Given the description of an element on the screen output the (x, y) to click on. 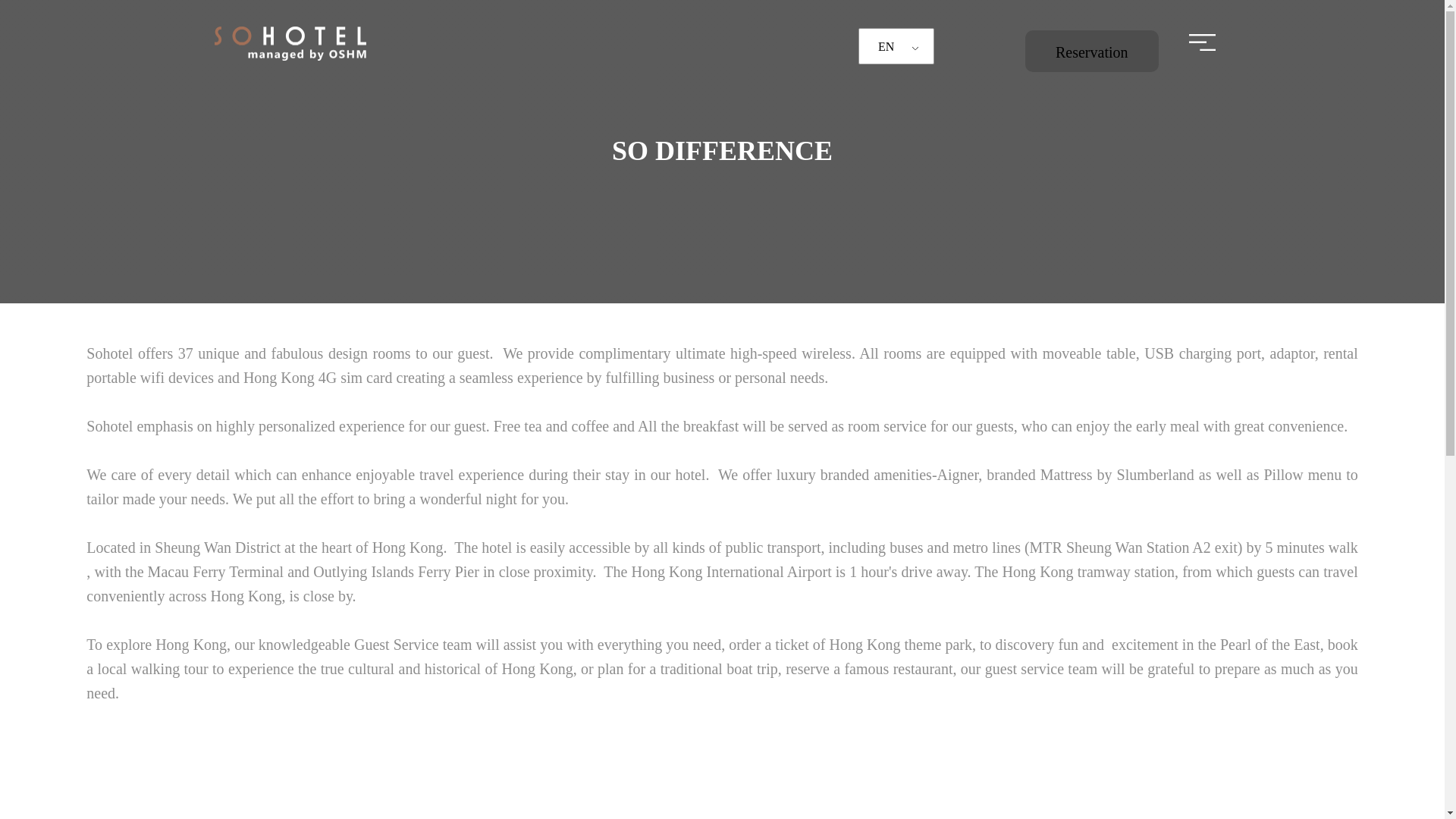
EN (893, 46)
EN (893, 46)
Reservation (1091, 51)
